Given the description of an element on the screen output the (x, y) to click on. 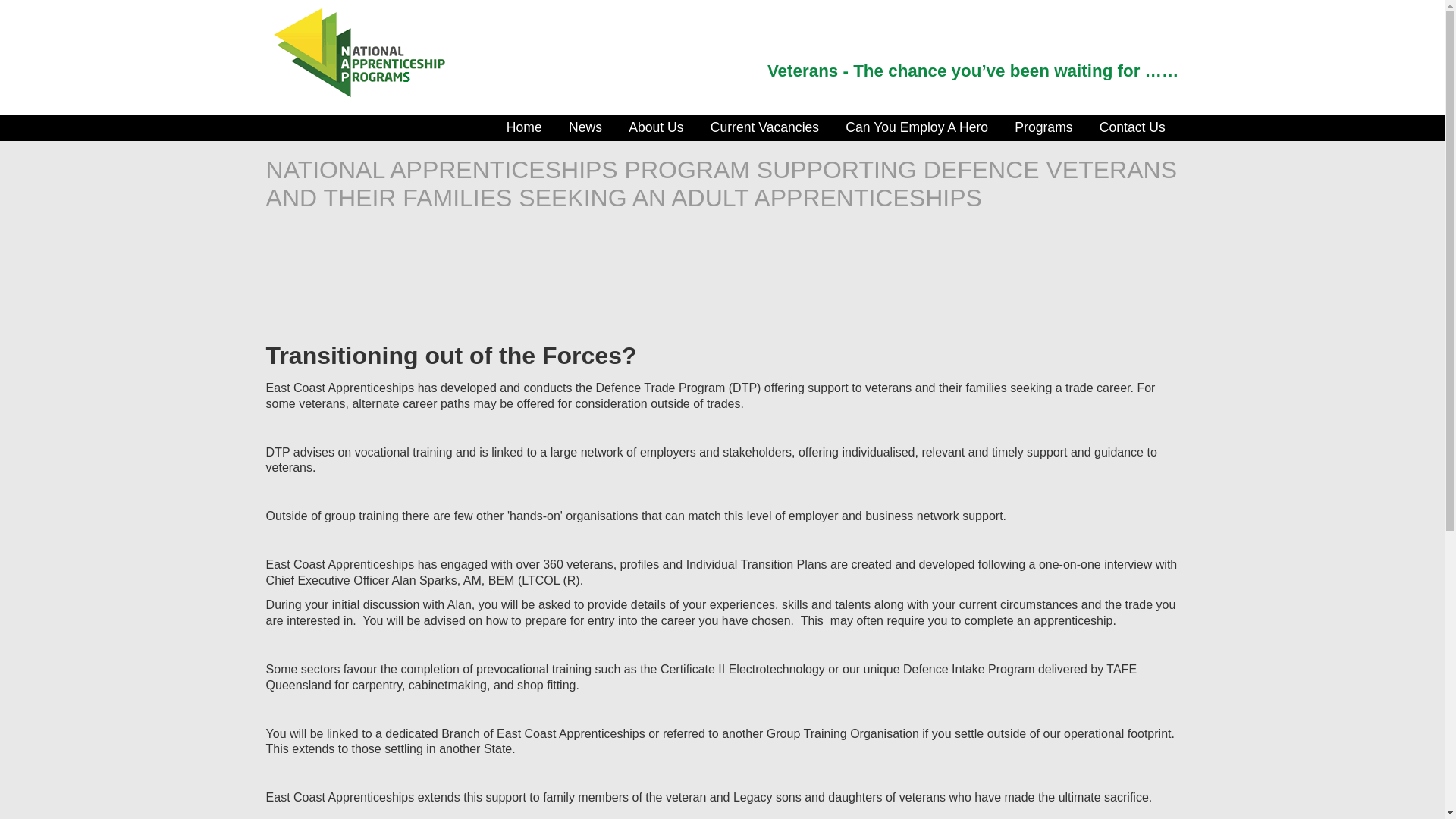
Home Element type: text (523, 127)
Contact Us Element type: text (1131, 127)
Programs Element type: text (1043, 127)
Can You Employ A Hero Element type: text (916, 127)
News Element type: text (585, 127)
About Us Element type: text (656, 127)
Current Vacancies Element type: text (764, 127)
